Given the description of an element on the screen output the (x, y) to click on. 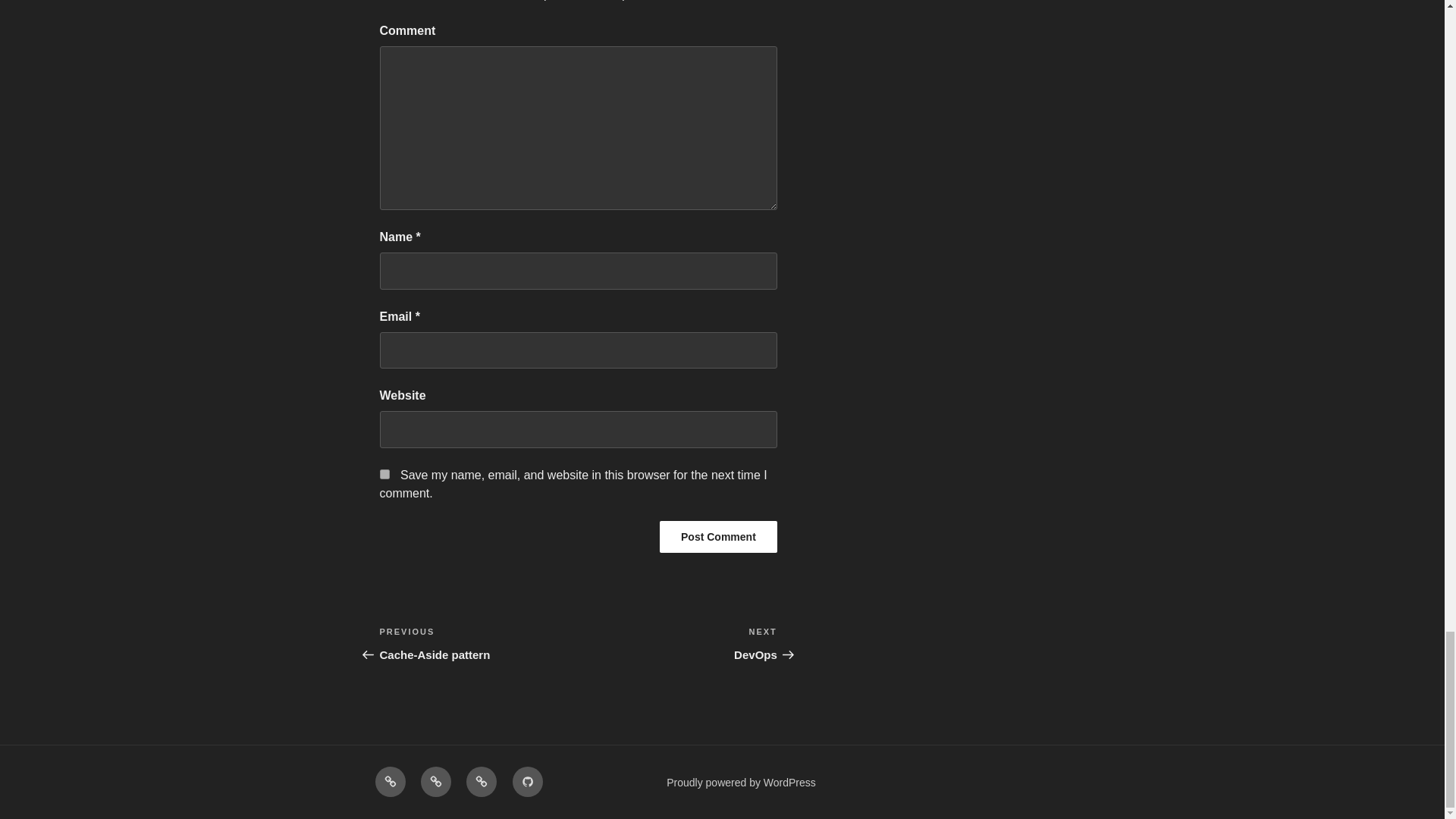
Home (478, 643)
Post Comment (389, 781)
Post Comment (718, 536)
yes (718, 536)
